Given the description of an element on the screen output the (x, y) to click on. 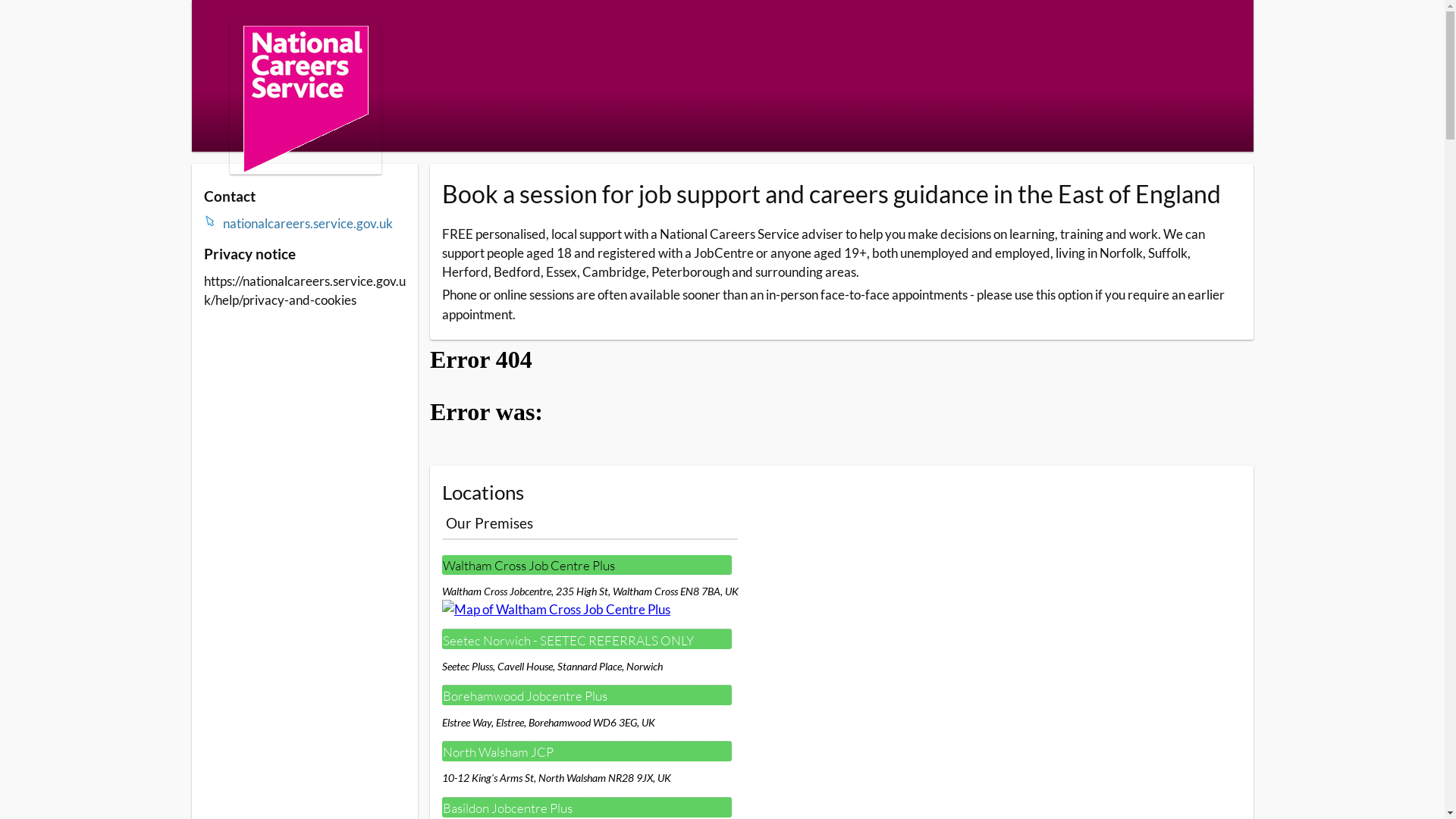
nationalcareers.service.gov.uk Element type: text (314, 222)
Borehamwood Jobcentre Plus Element type: text (586, 694)
Waltham Cross Job Centre Plus Element type: text (586, 564)
North Walsham JCP Element type: text (586, 750)
Seetec Norwich - SEETEC REFERRALS ONLY Element type: text (586, 638)
Skip to booking section Element type: text (280, 23)
Basildon Jobcentre Plus Element type: text (586, 807)
Booking widget Element type: hover (841, 402)
